Given the description of an element on the screen output the (x, y) to click on. 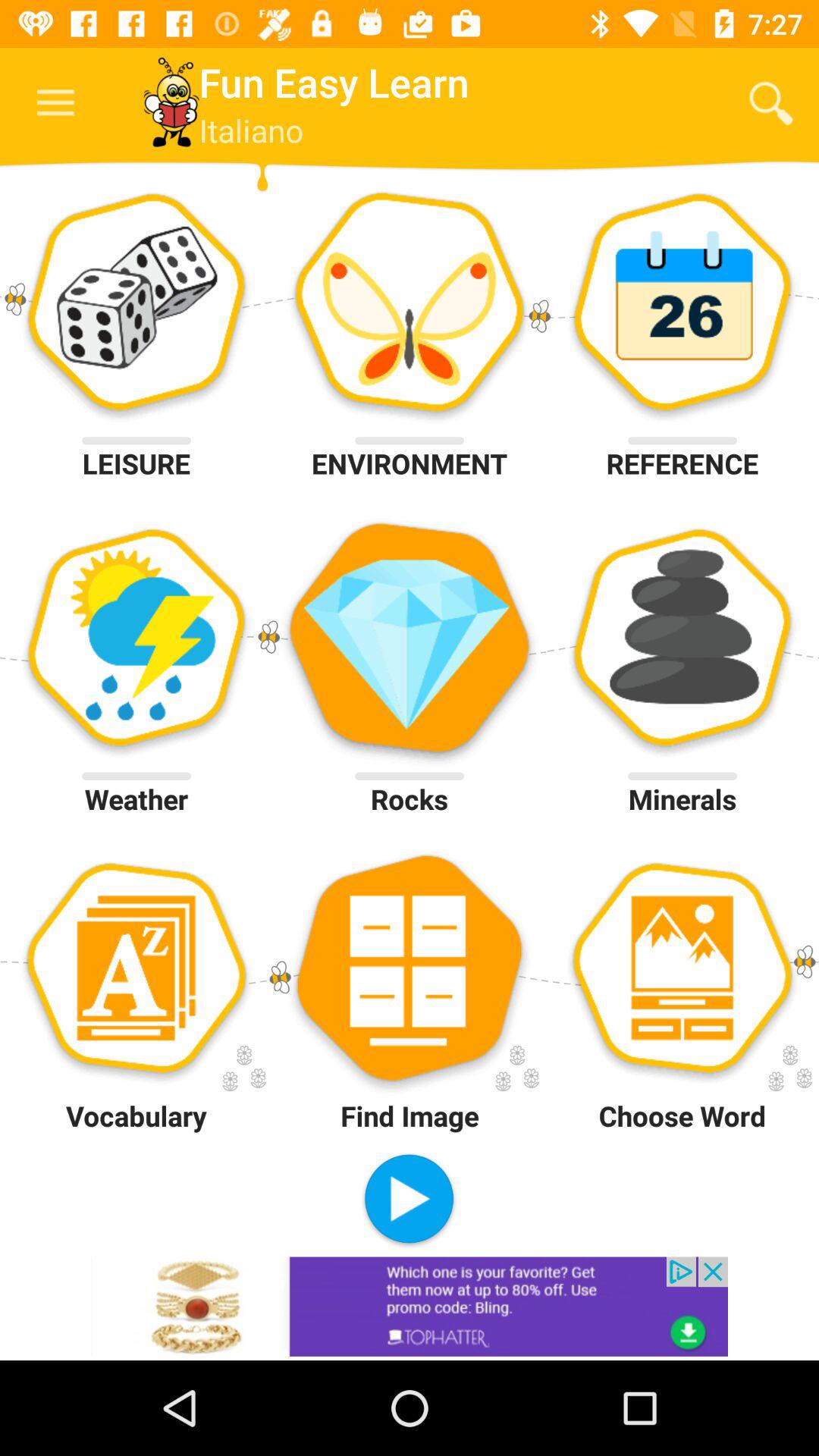
turn off the item to the right of vocabulary item (408, 1200)
